Given the description of an element on the screen output the (x, y) to click on. 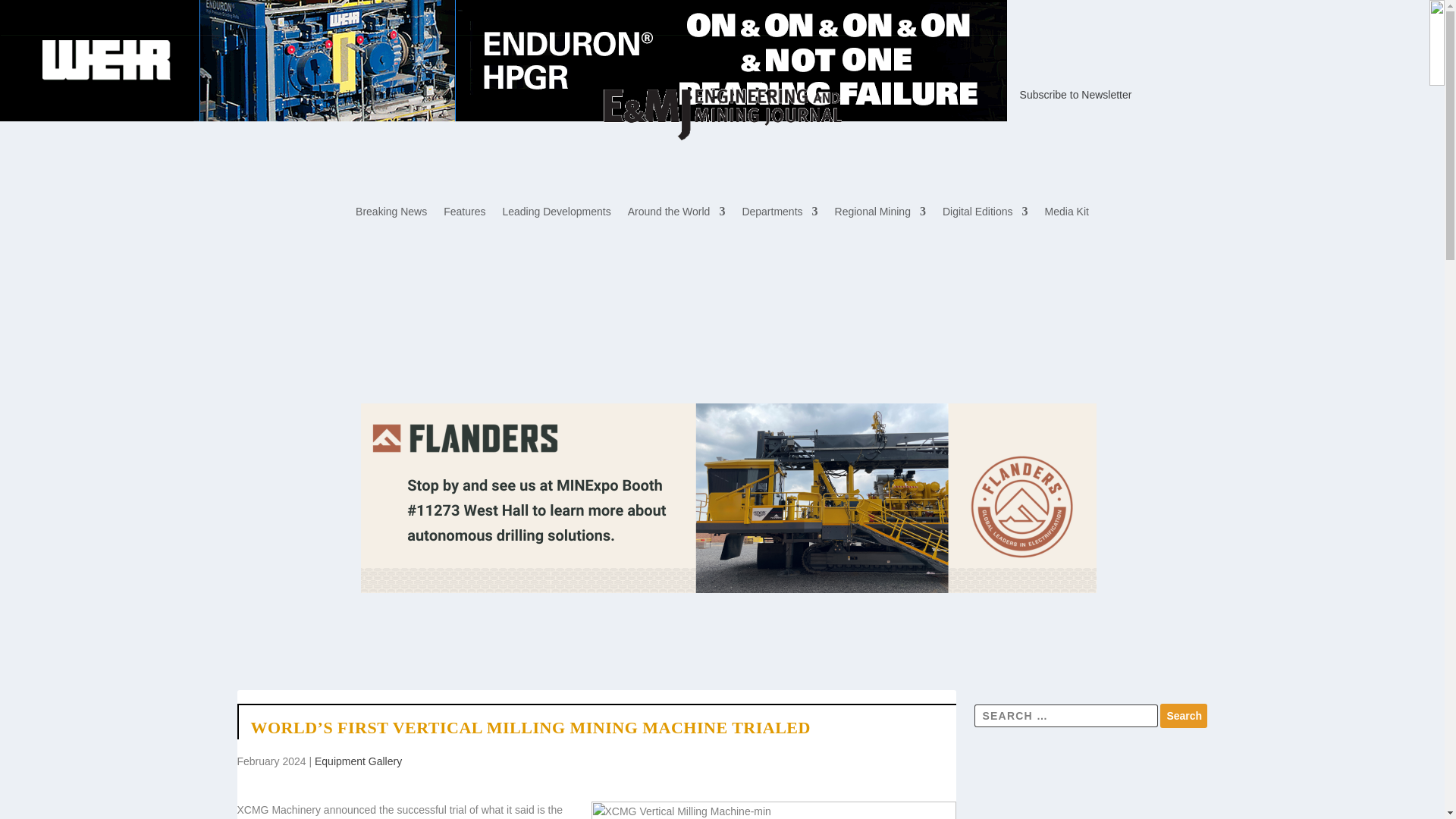
Equipment Gallery (357, 761)
Search (1183, 715)
Features (464, 214)
Search (1183, 715)
Subscribe to Print (354, 94)
Around the World (676, 214)
Subscribe to Newsletter (1076, 94)
Media Kit (1067, 214)
Departments (778, 214)
Regional Mining (880, 214)
